Given the description of an element on the screen output the (x, y) to click on. 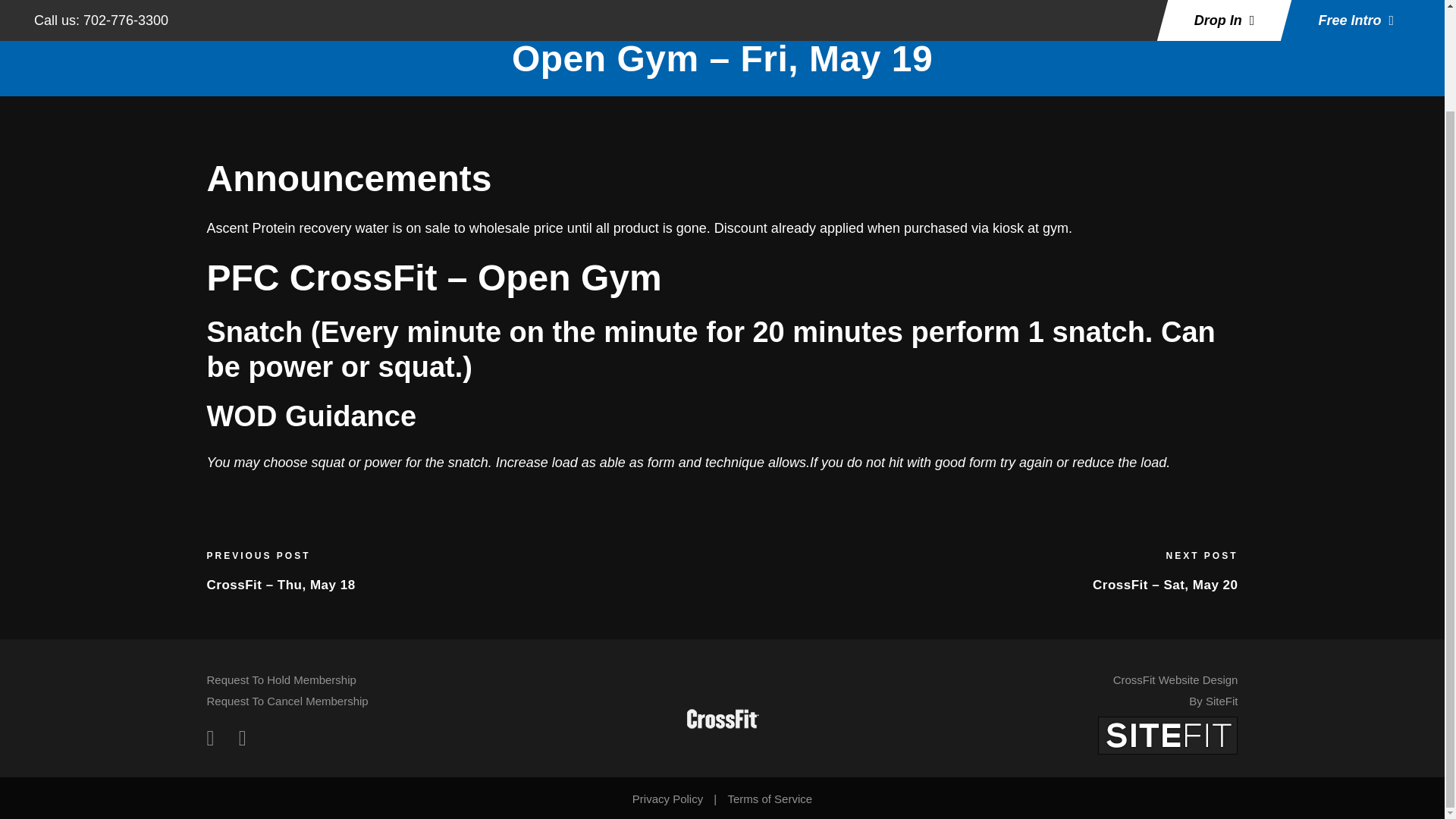
Rates (1286, 1)
CrossFit Website Design By SiteFit (1167, 734)
Request To Cancel Membership (287, 700)
CrossFit Website Design By SiteFit (1176, 690)
Request To Hold Membership (280, 679)
Schedule (1224, 1)
Get Started (991, 1)
What We Offer (1136, 1)
WOD (1335, 1)
About (1059, 1)
Contact (1176, 690)
